Given the description of an element on the screen output the (x, y) to click on. 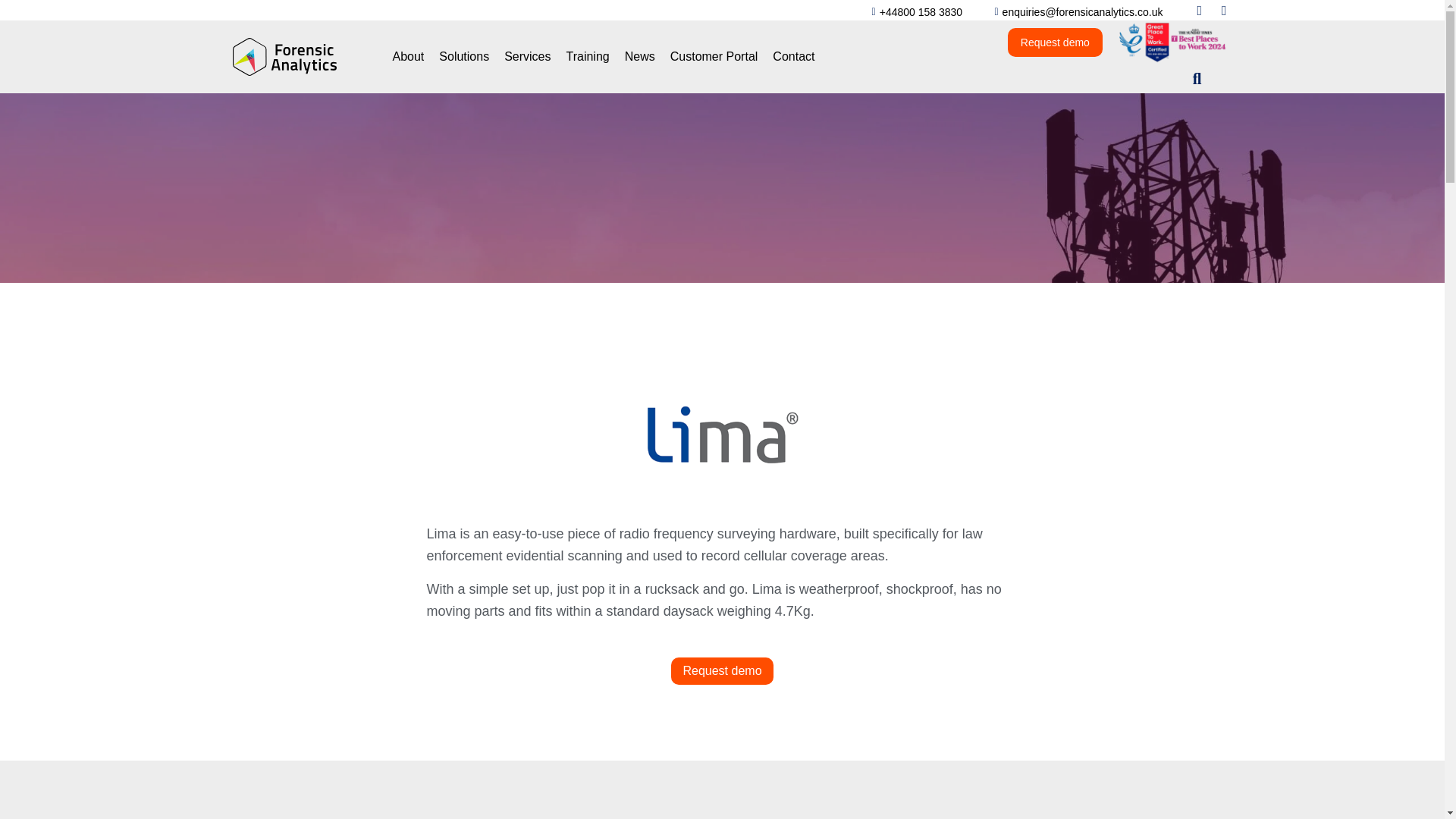
Solutions (463, 56)
Contact (793, 56)
Request demo (1054, 41)
Training (586, 56)
About (409, 56)
Customer Portal (713, 56)
Services (526, 56)
